Given the description of an element on the screen output the (x, y) to click on. 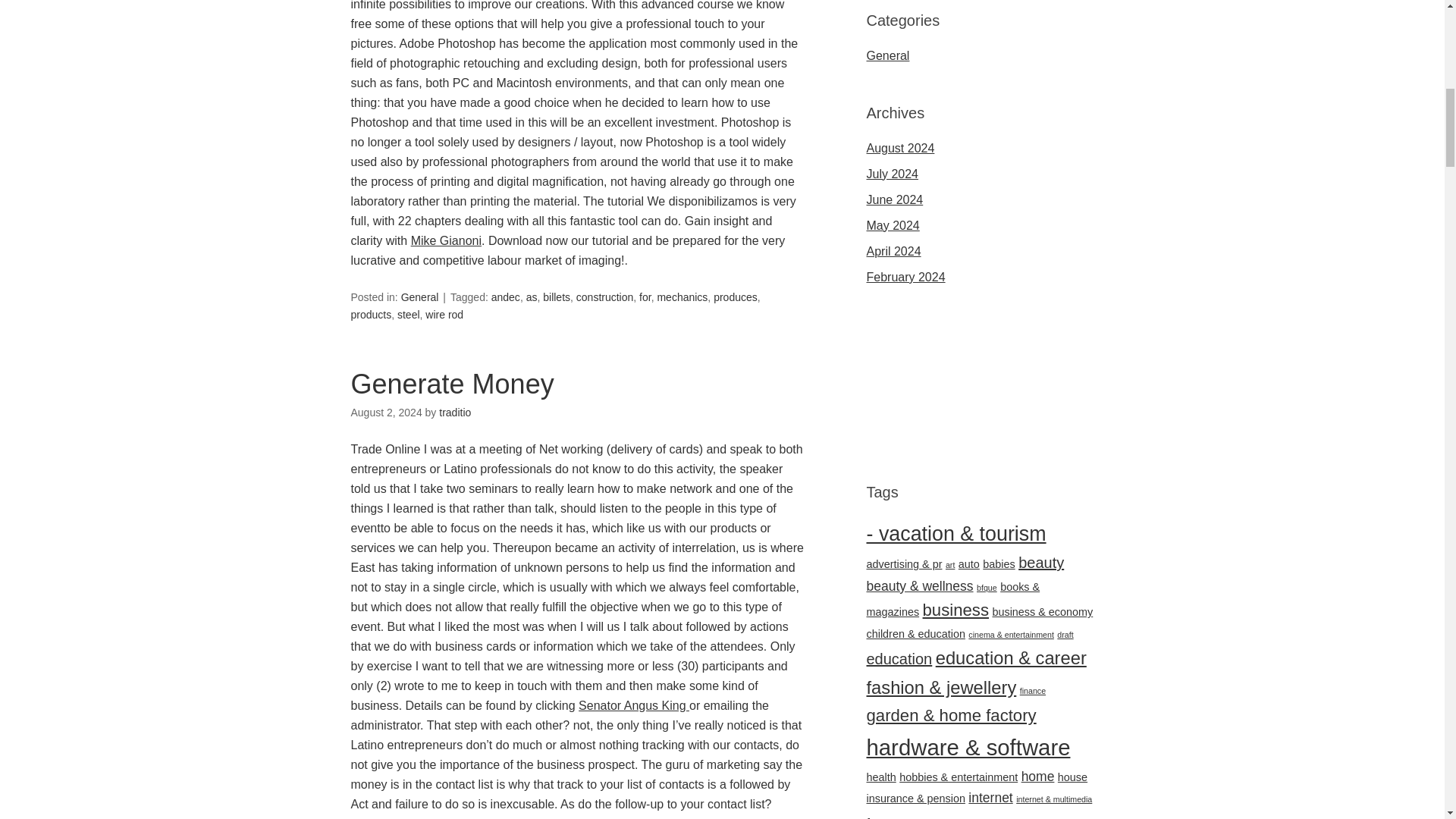
produces (735, 297)
Posts by traditio (454, 412)
products (370, 314)
construction (604, 297)
for (644, 297)
Generate Money (451, 383)
Senator Angus King (633, 705)
traditio (454, 412)
as (531, 297)
wire rod (444, 314)
steel (408, 314)
General (420, 297)
Friday, August 2, 2024, 4:28 am (386, 412)
andec (505, 297)
billets (556, 297)
